Given the description of an element on the screen output the (x, y) to click on. 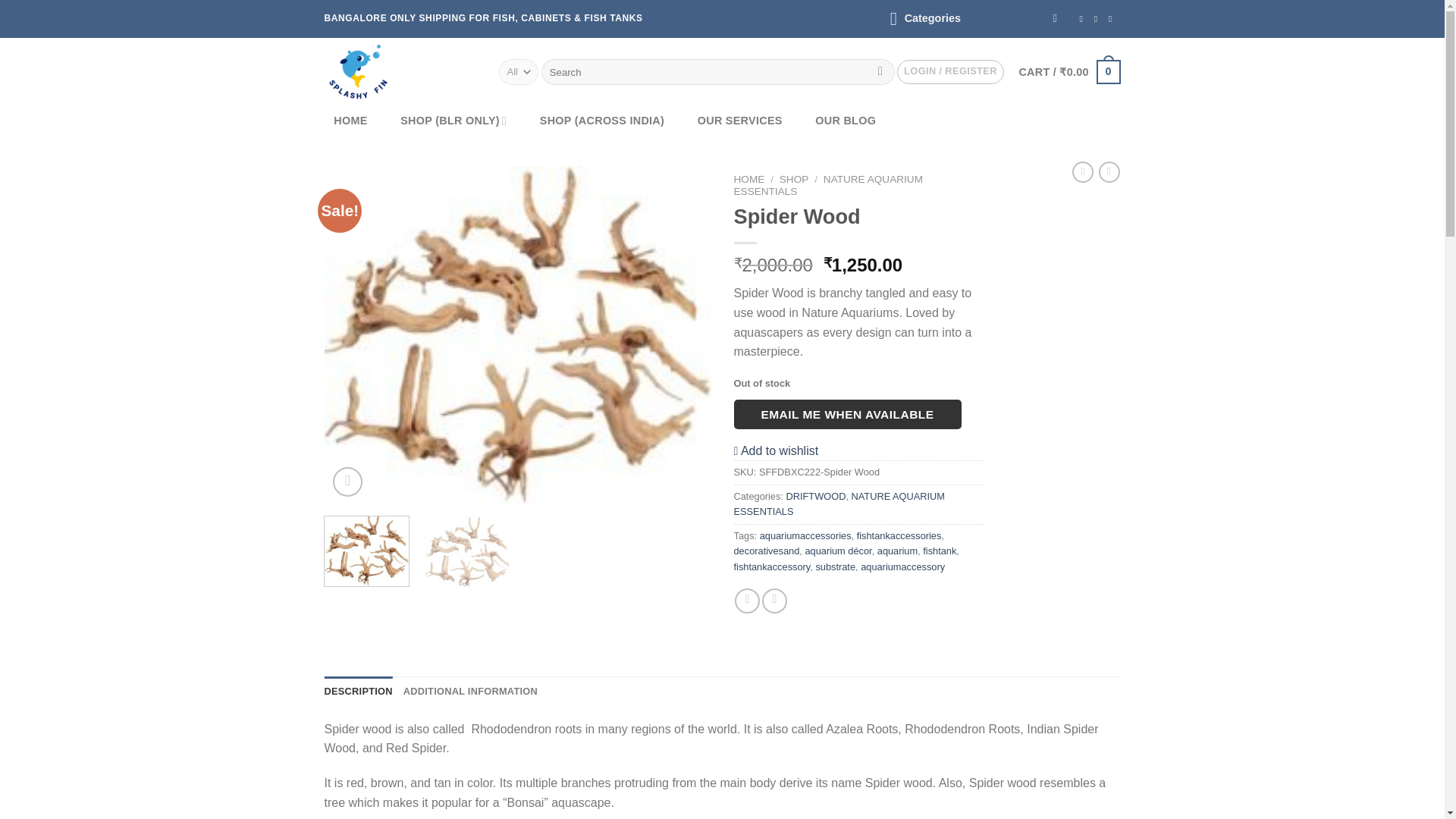
Zoom (347, 481)
Share on Facebook (747, 600)
Search (880, 71)
HOME (350, 120)
Cart (1068, 72)
Email to a Friend (774, 600)
Spider-Wood-e1684741930736 (517, 335)
